Given the description of an element on the screen output the (x, y) to click on. 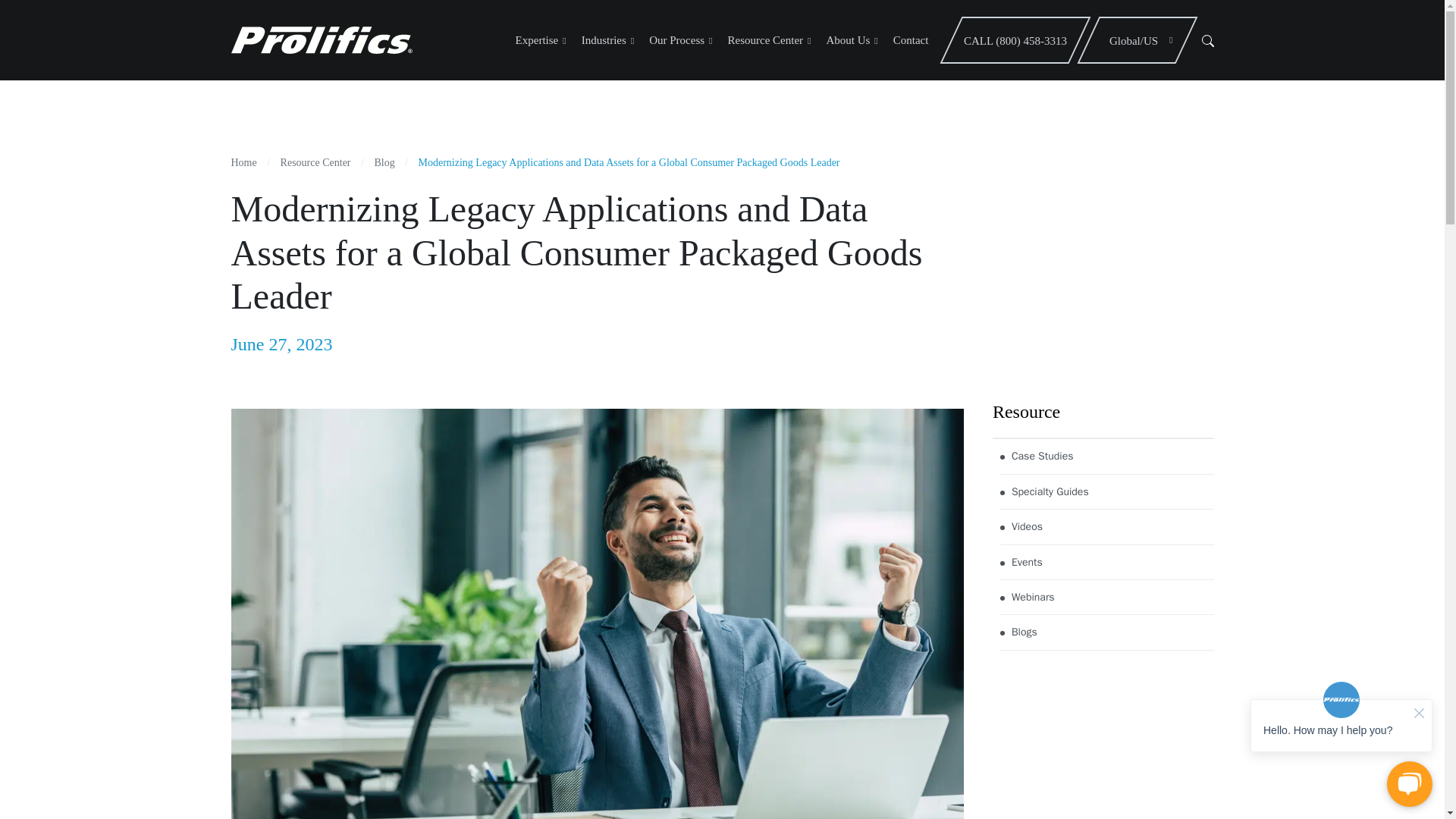
Resource Center (769, 40)
